Given the description of an element on the screen output the (x, y) to click on. 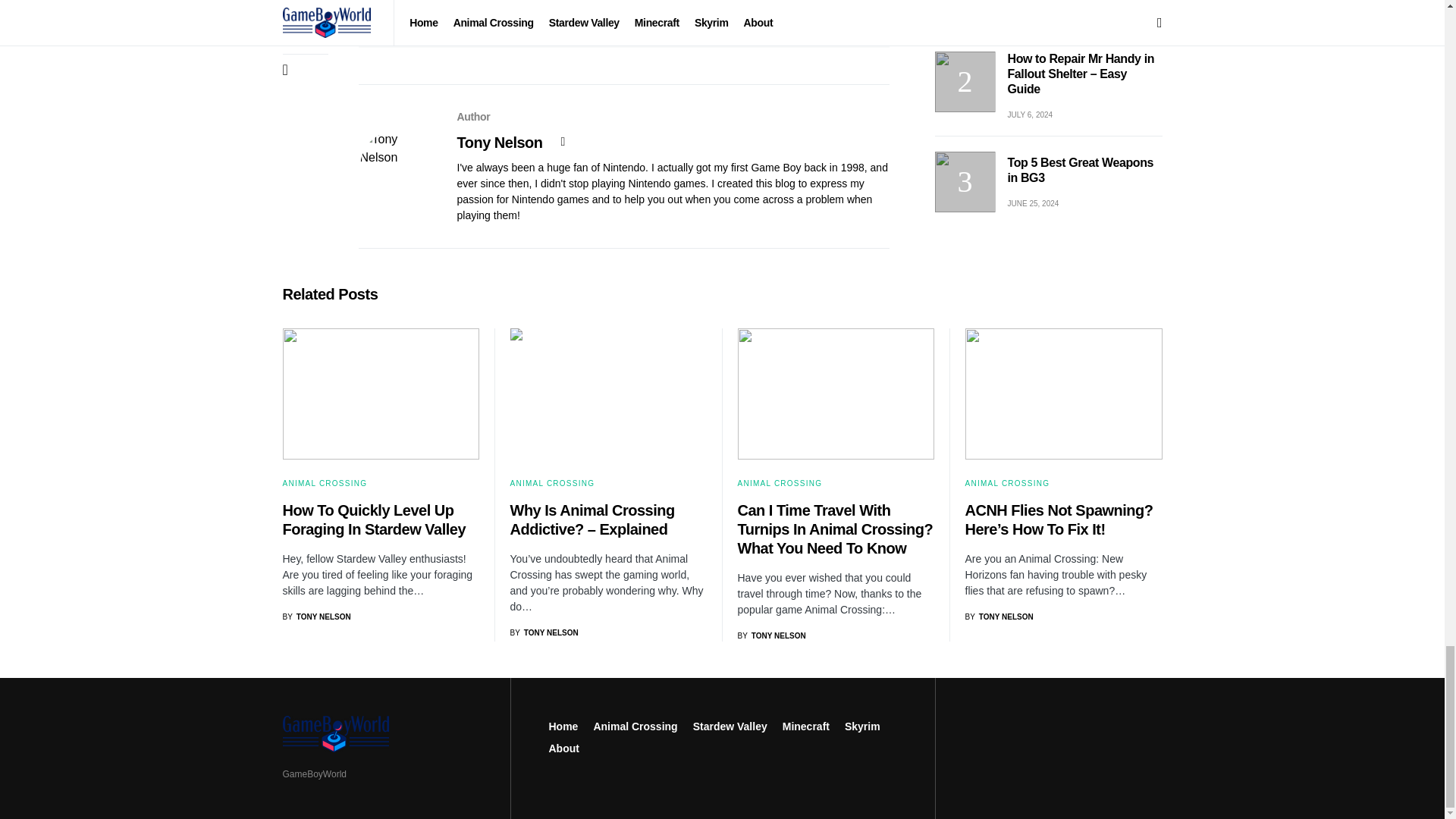
Share (489, 12)
View all posts by Tony Nelson (770, 635)
View all posts by Tony Nelson (543, 632)
View all posts by Tony Nelson (316, 616)
View all posts by Tony Nelson (997, 616)
